Given the description of an element on the screen output the (x, y) to click on. 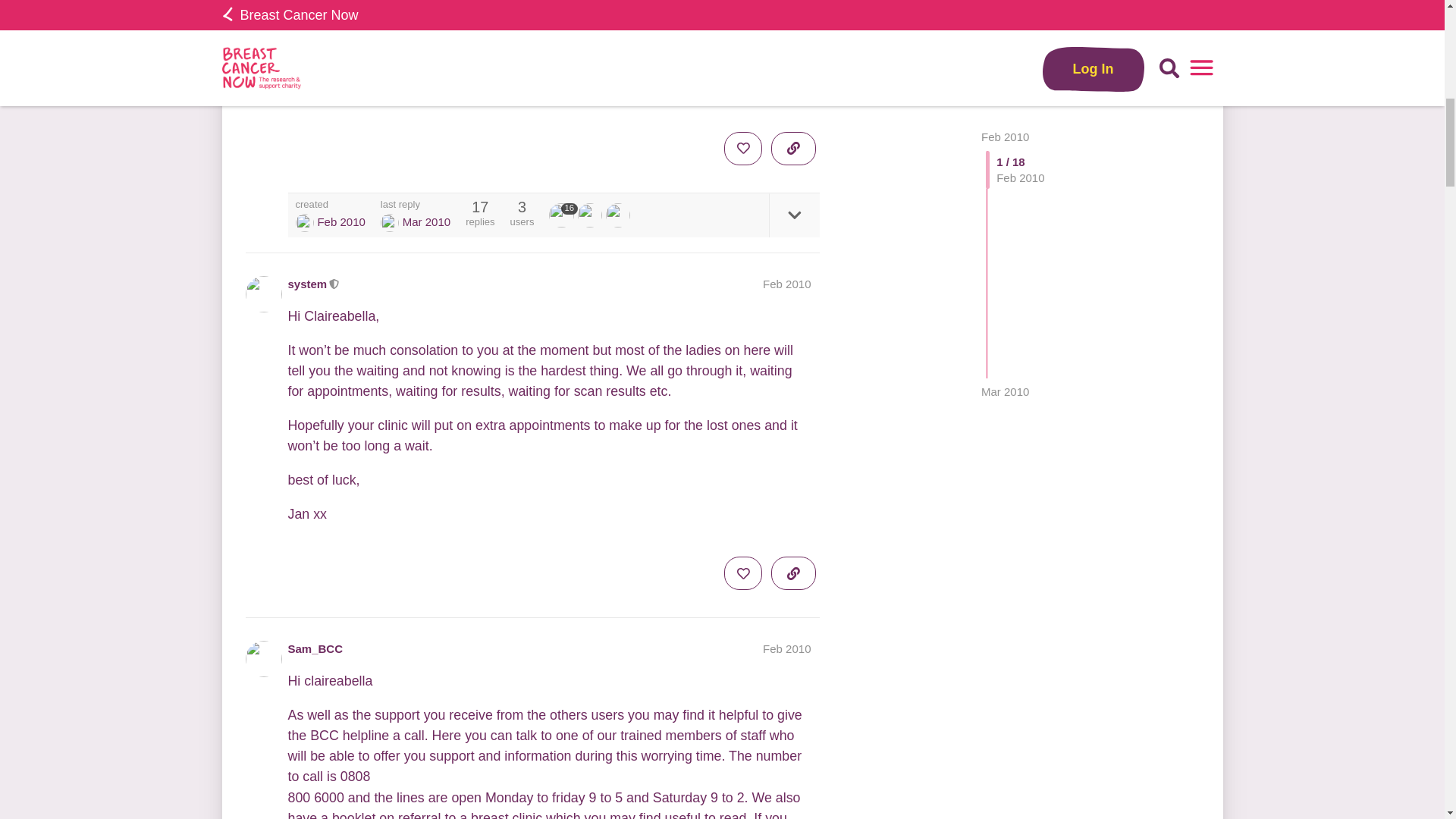
copy a link to this post to clipboard (793, 148)
5 Mar 2010 02:00 (426, 221)
system (562, 215)
like this post (742, 148)
16 (562, 215)
Mar 2010 (1005, 20)
expand topic details (793, 215)
last reply (414, 204)
system (389, 222)
system (304, 222)
